Given the description of an element on the screen output the (x, y) to click on. 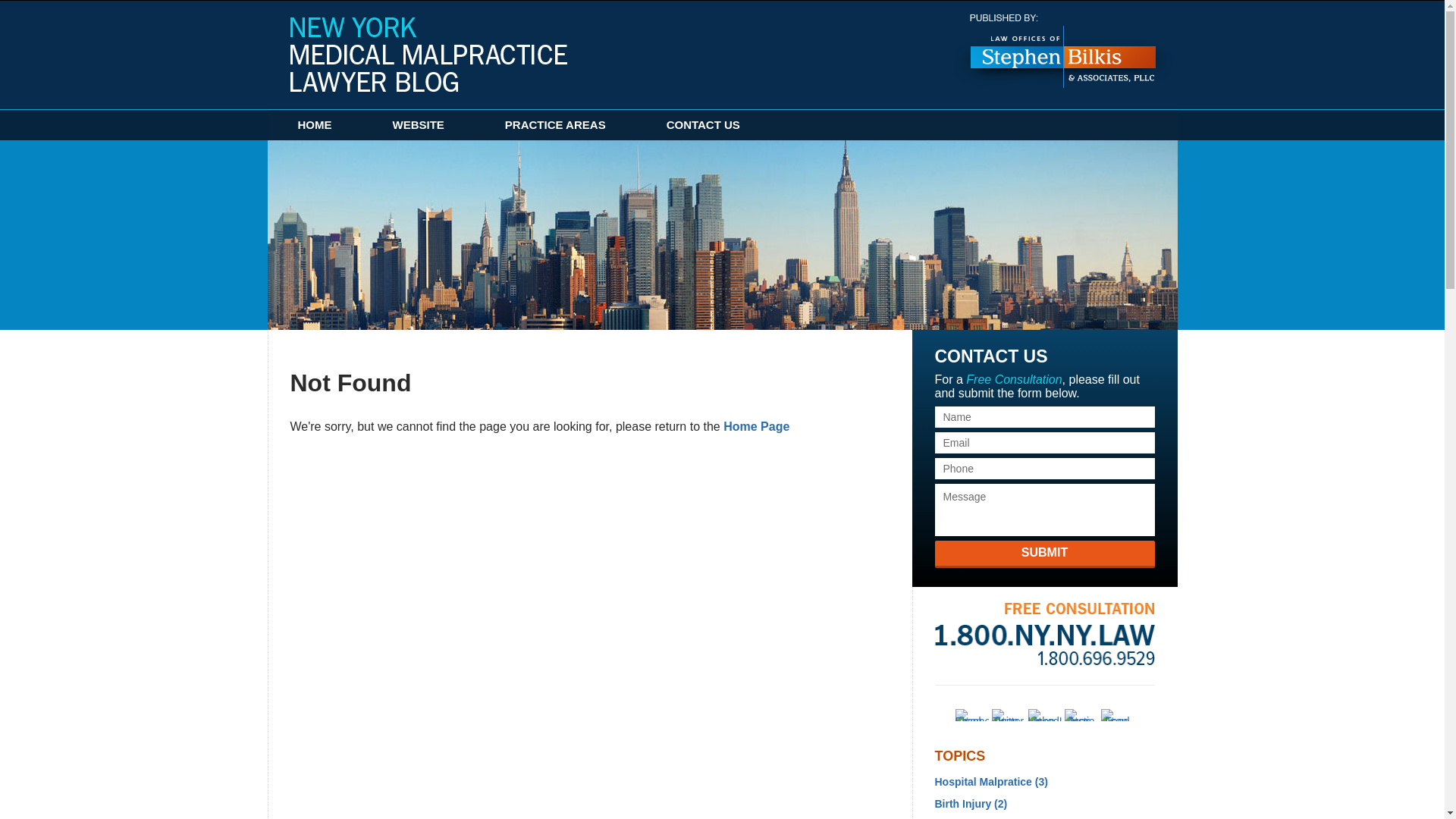
Please enter a valid phone number. (1044, 468)
Justia (1080, 715)
SUBMIT (1044, 554)
New York Medical Malpractice Lawyer Blog (427, 54)
Facebook (971, 715)
Twitter (1008, 715)
PRACTICE AREAS (555, 124)
CONTACT US (703, 124)
Home Page (756, 426)
WEBSITE (418, 124)
